Given the description of an element on the screen output the (x, y) to click on. 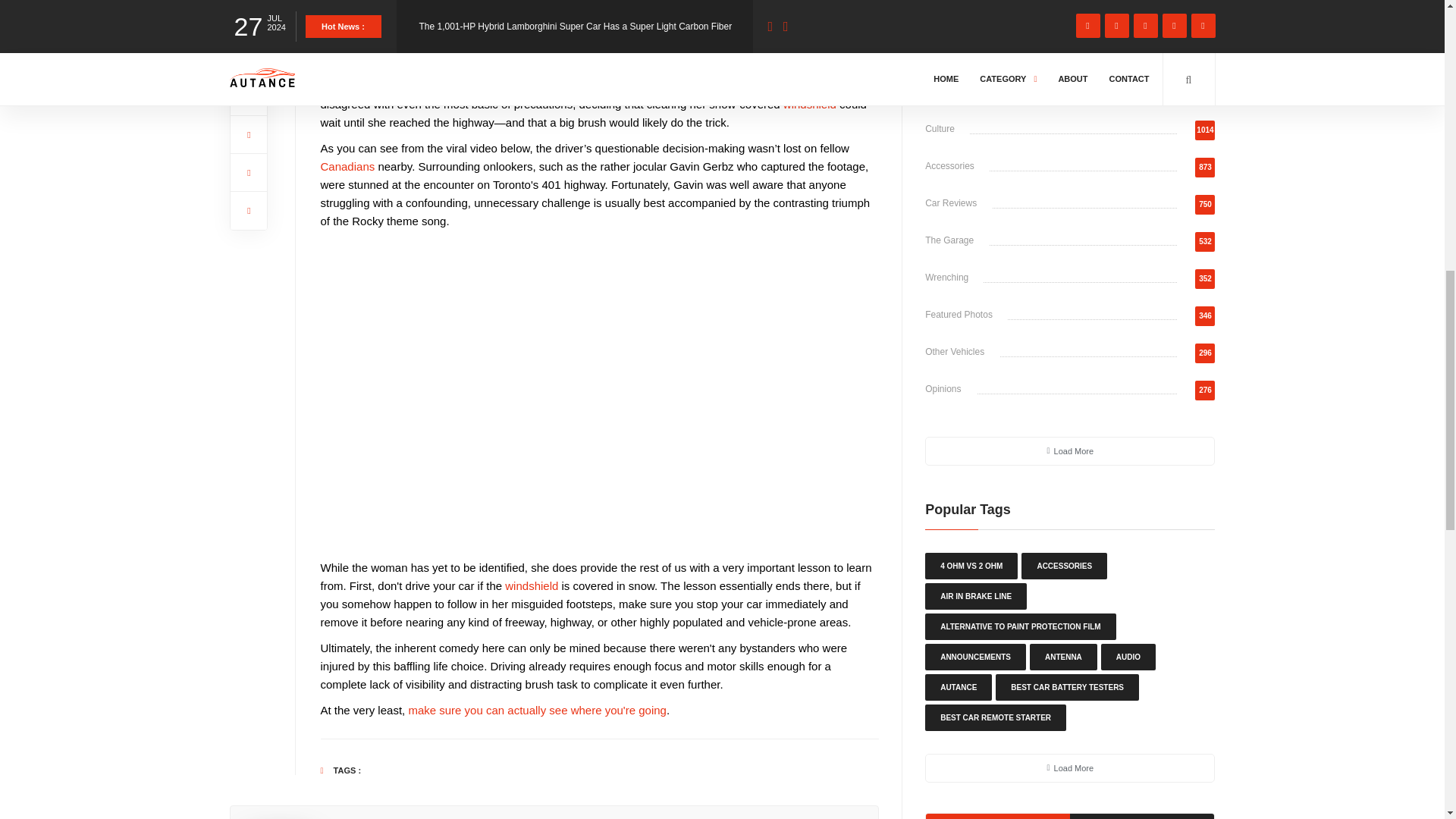
windshield (809, 103)
Canadians (347, 165)
snow (389, 85)
windshield (531, 585)
PRINT (802, 9)
